Given the description of an element on the screen output the (x, y) to click on. 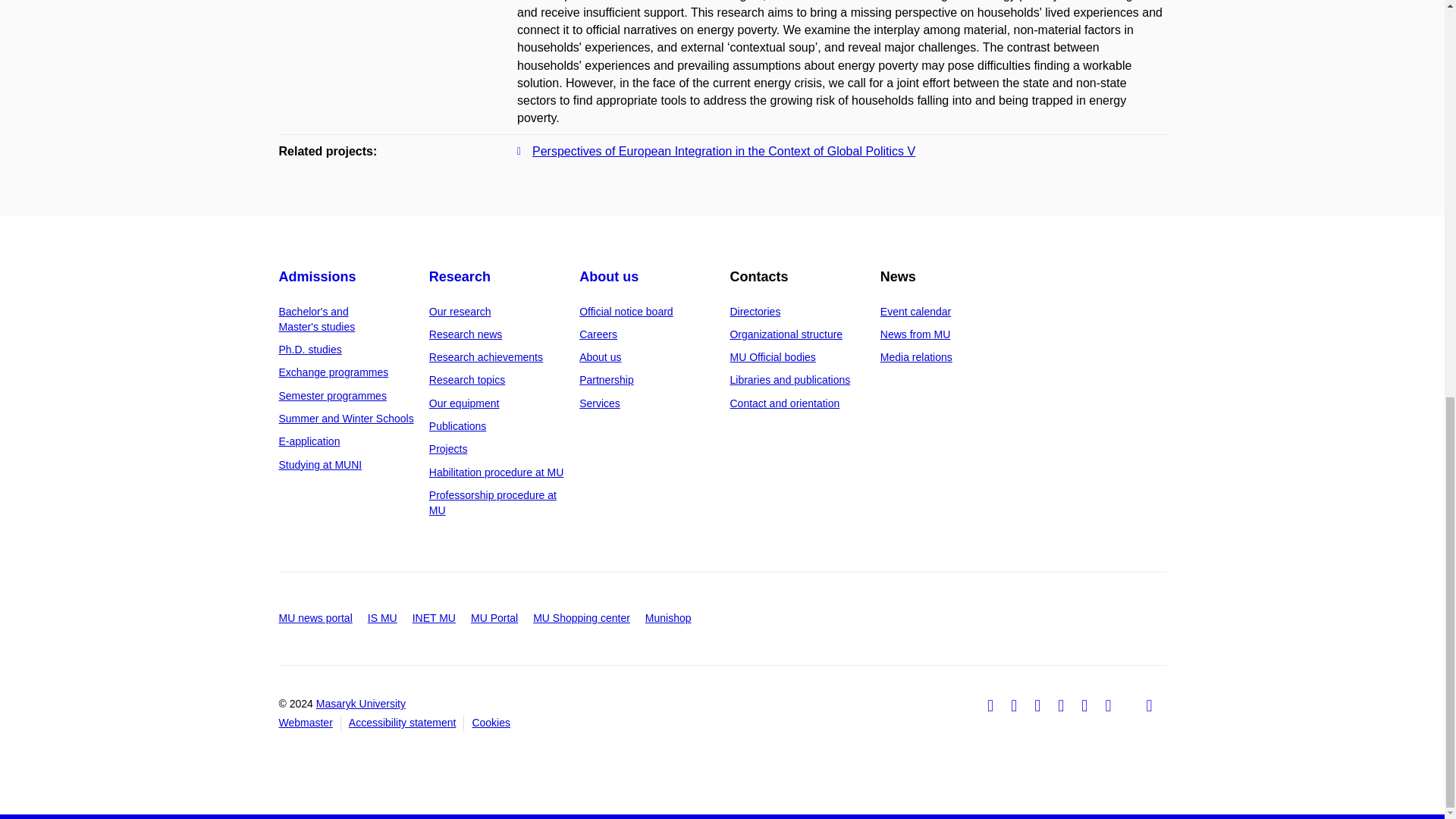
Summer and Winter Schools (346, 418)
Our equipment (464, 403)
Our research (460, 311)
Publications (457, 426)
Exchange programmes (333, 372)
Ph.D. studies (310, 349)
Semester programmes (333, 395)
Projects (448, 449)
Research achievements (486, 357)
Research (459, 276)
